Given the description of an element on the screen output the (x, y) to click on. 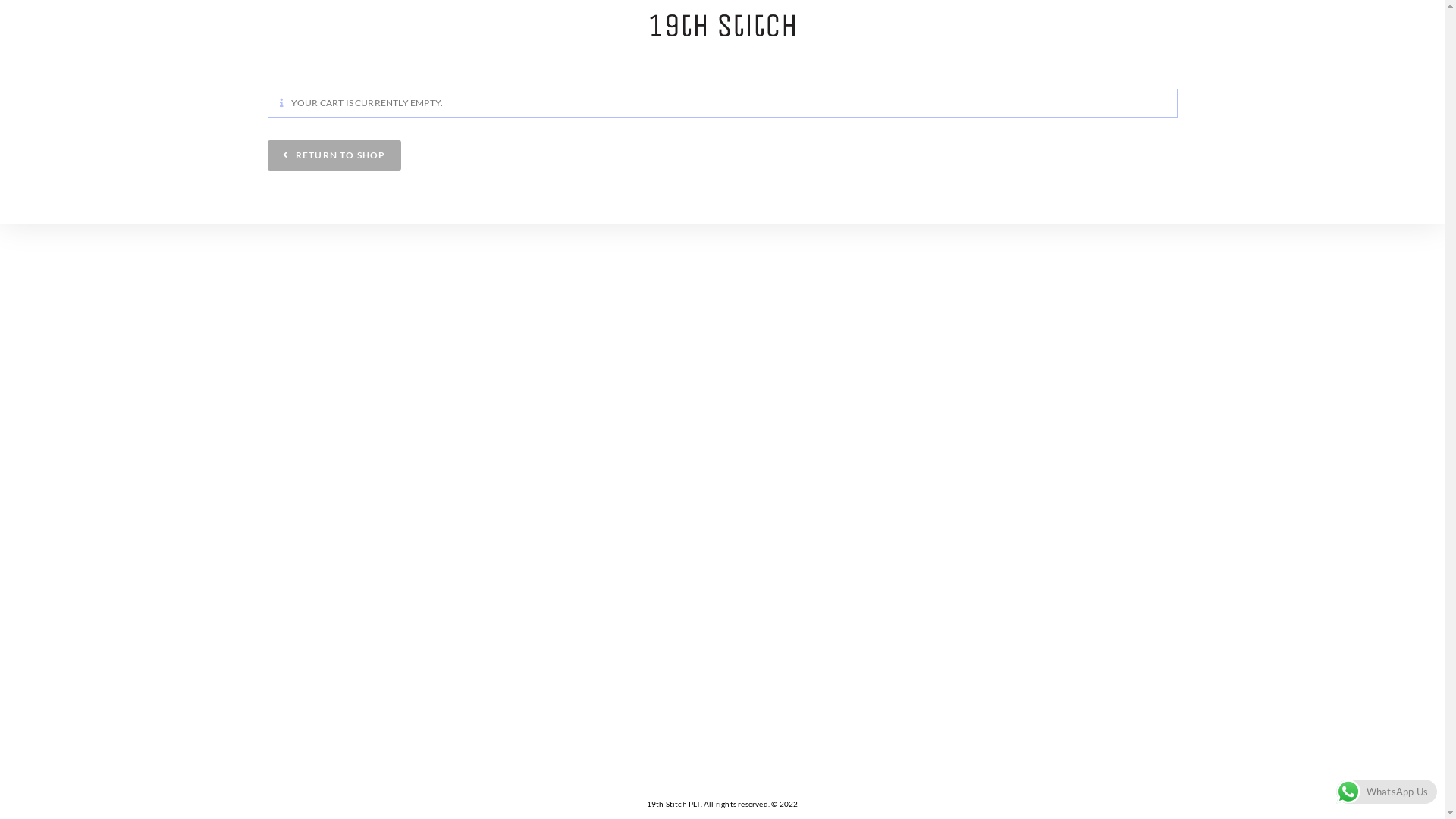
RETURN TO SHOP Element type: text (333, 155)
